Given the description of an element on the screen output the (x, y) to click on. 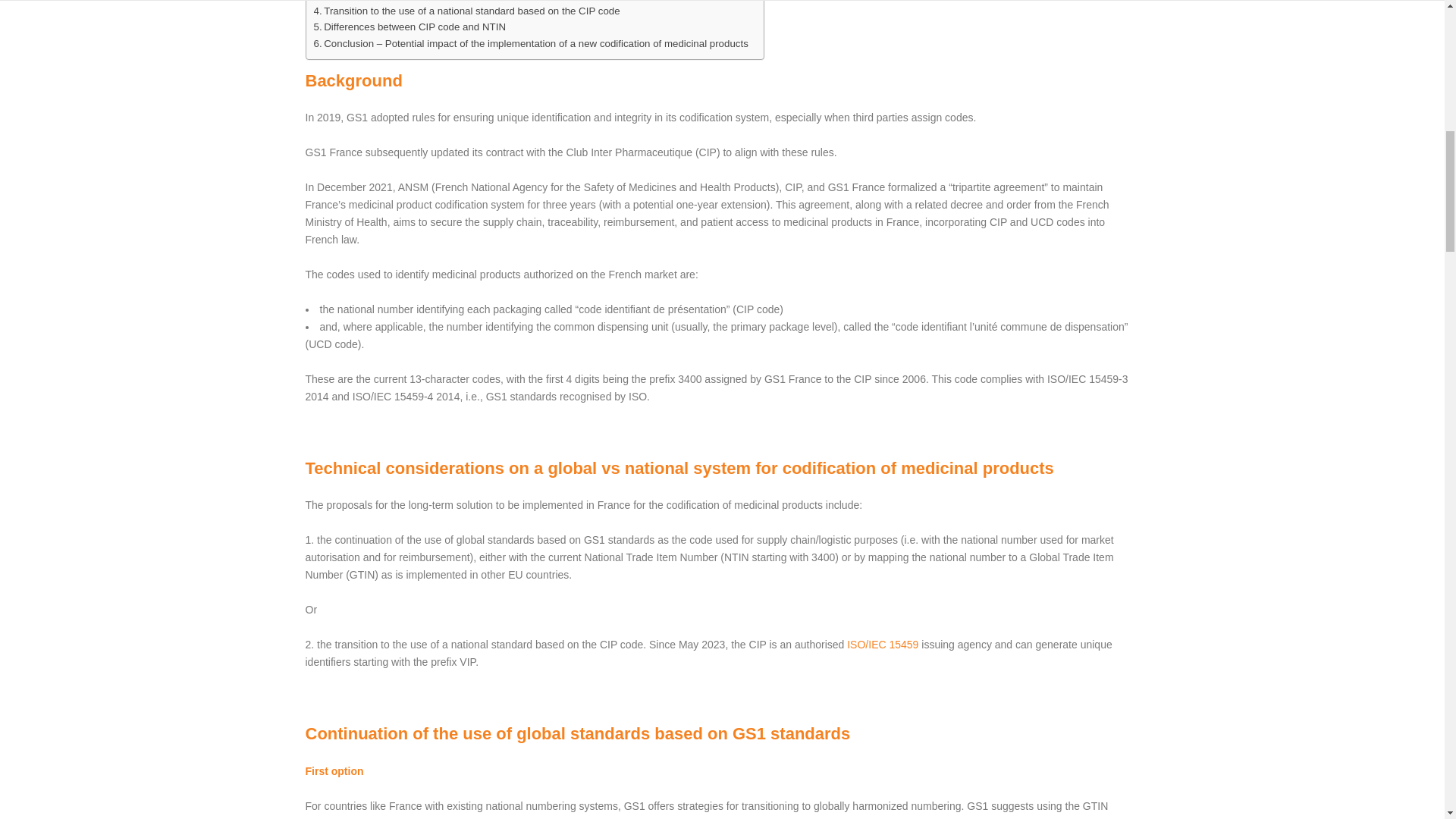
Differences between CIP code and NTIN (410, 26)
